Given the description of an element on the screen output the (x, y) to click on. 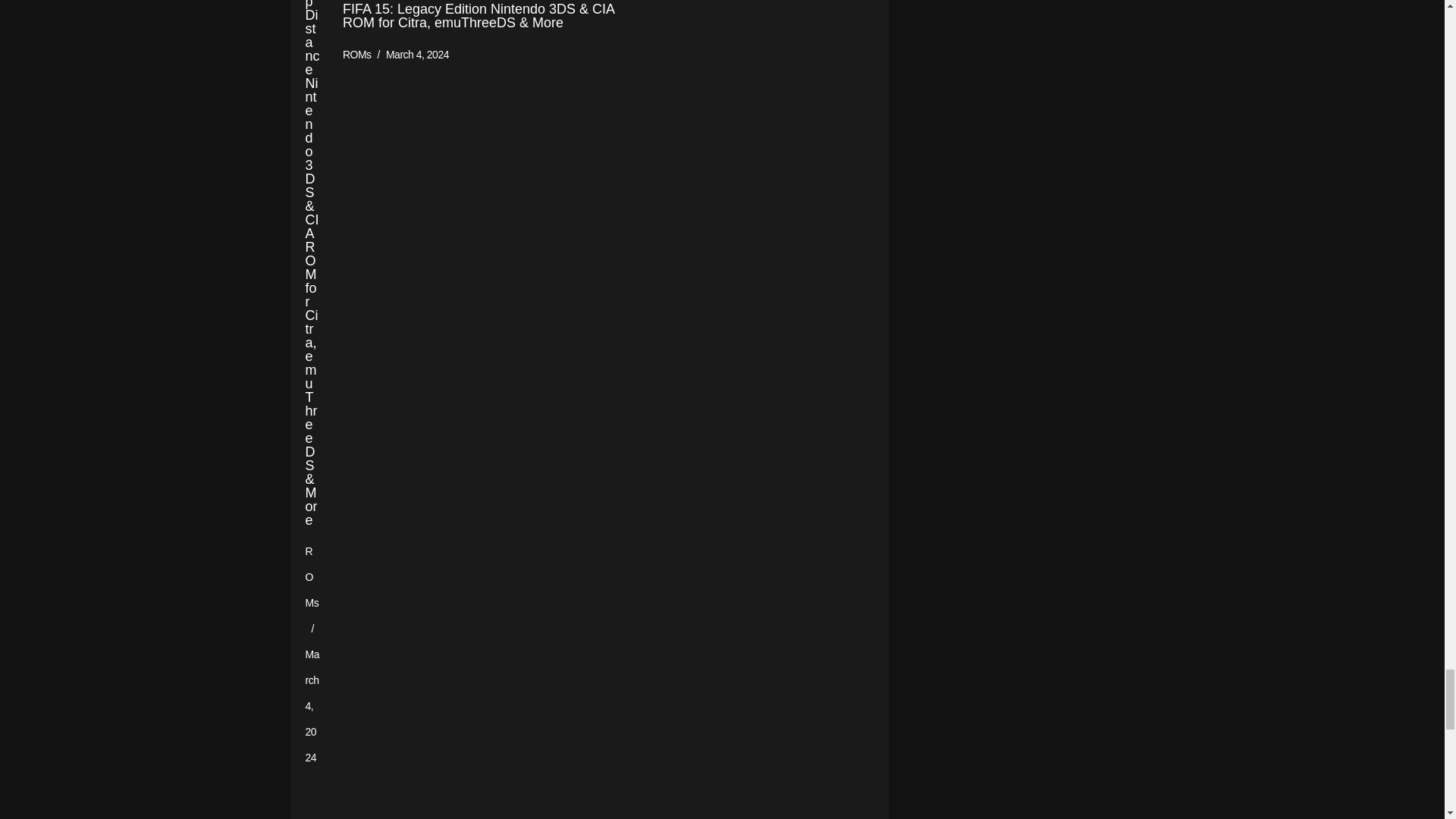
ROMs (356, 54)
